Given the description of an element on the screen output the (x, y) to click on. 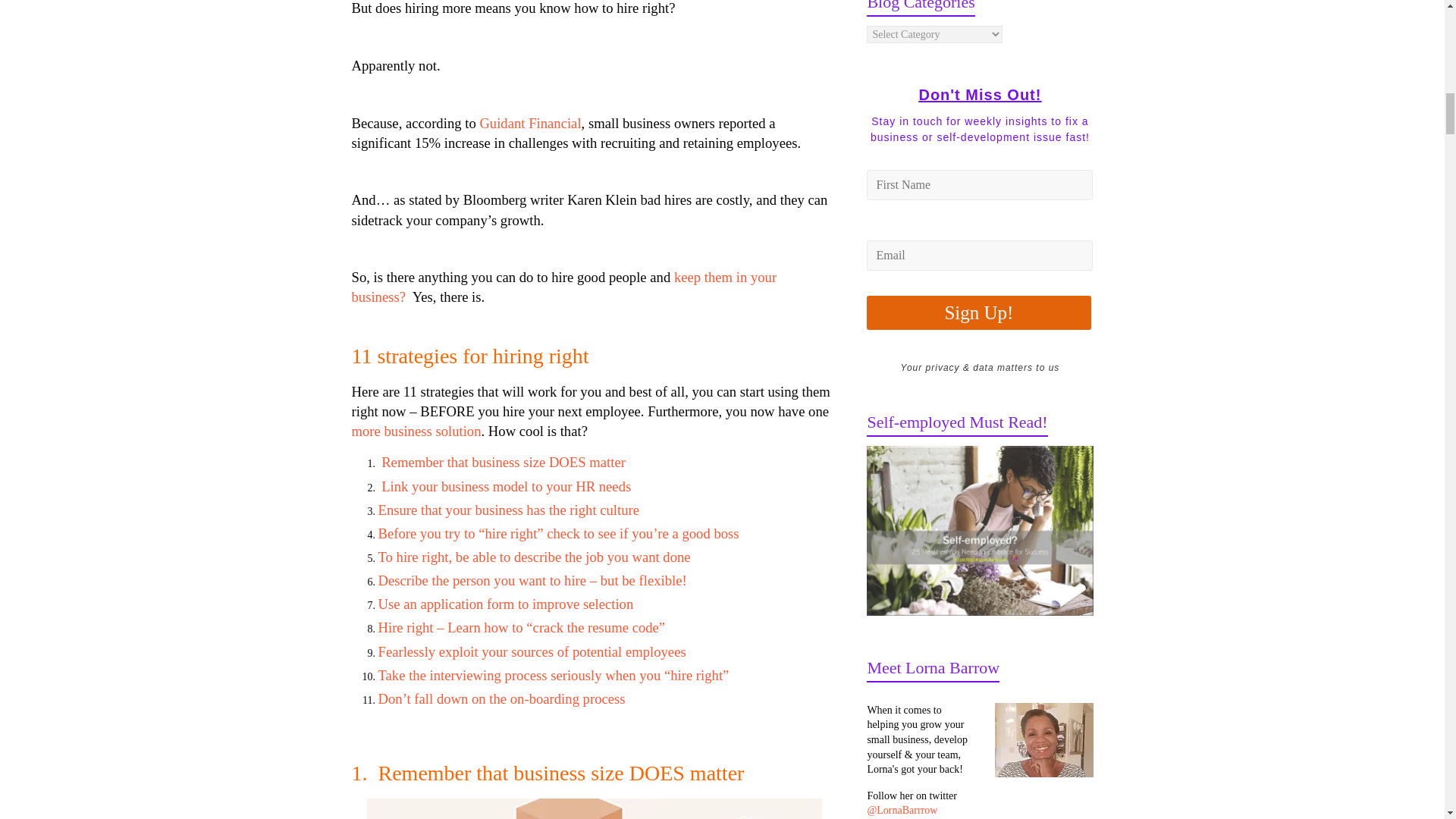
Remember that business size DOES matter (503, 462)
more business solution (416, 430)
keep them in your business? (564, 286)
Guidant Financial (529, 123)
